Given the description of an element on the screen output the (x, y) to click on. 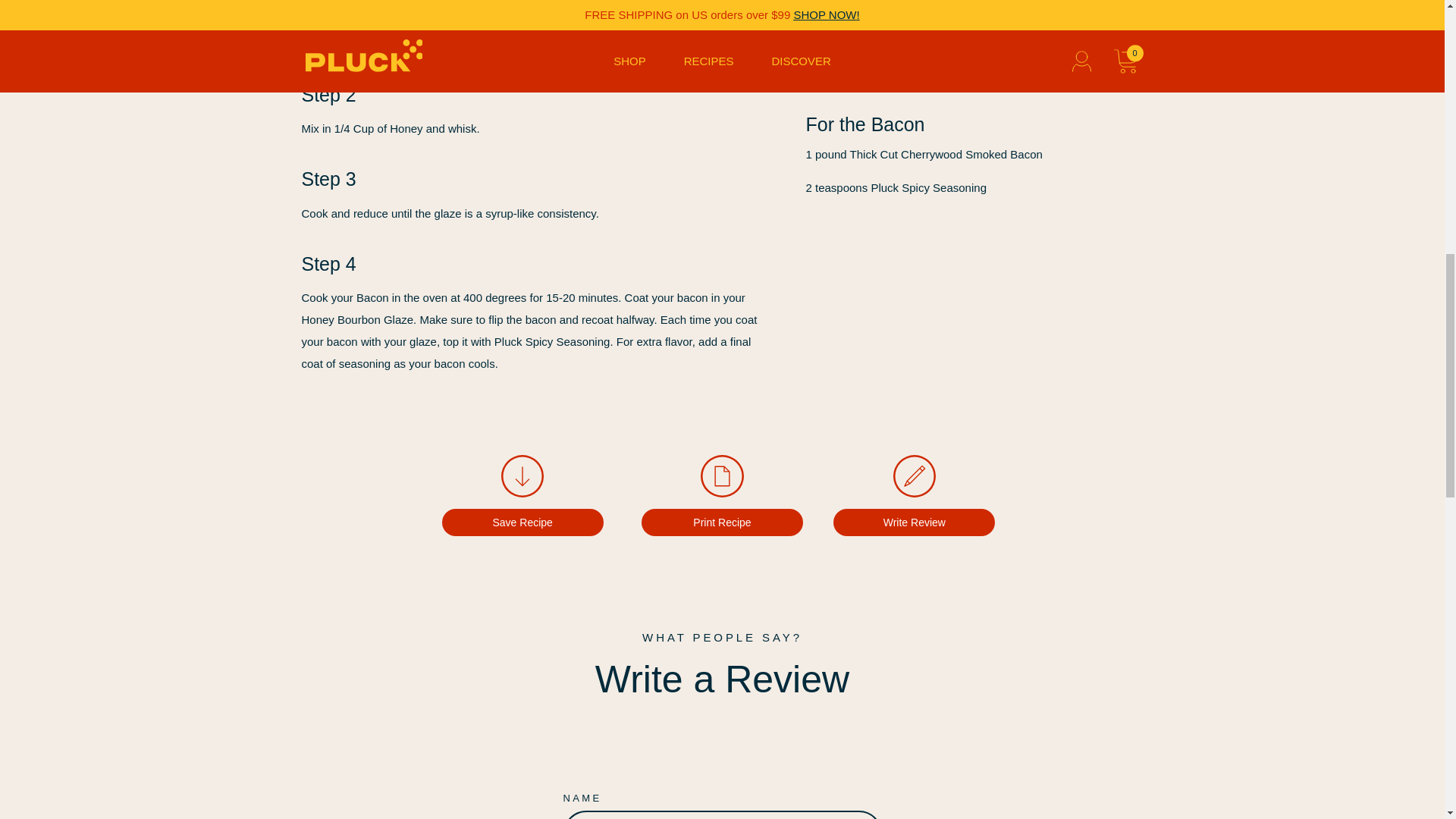
Write Review (913, 495)
Write Review (913, 495)
Print Recipe (722, 495)
